Given the description of an element on the screen output the (x, y) to click on. 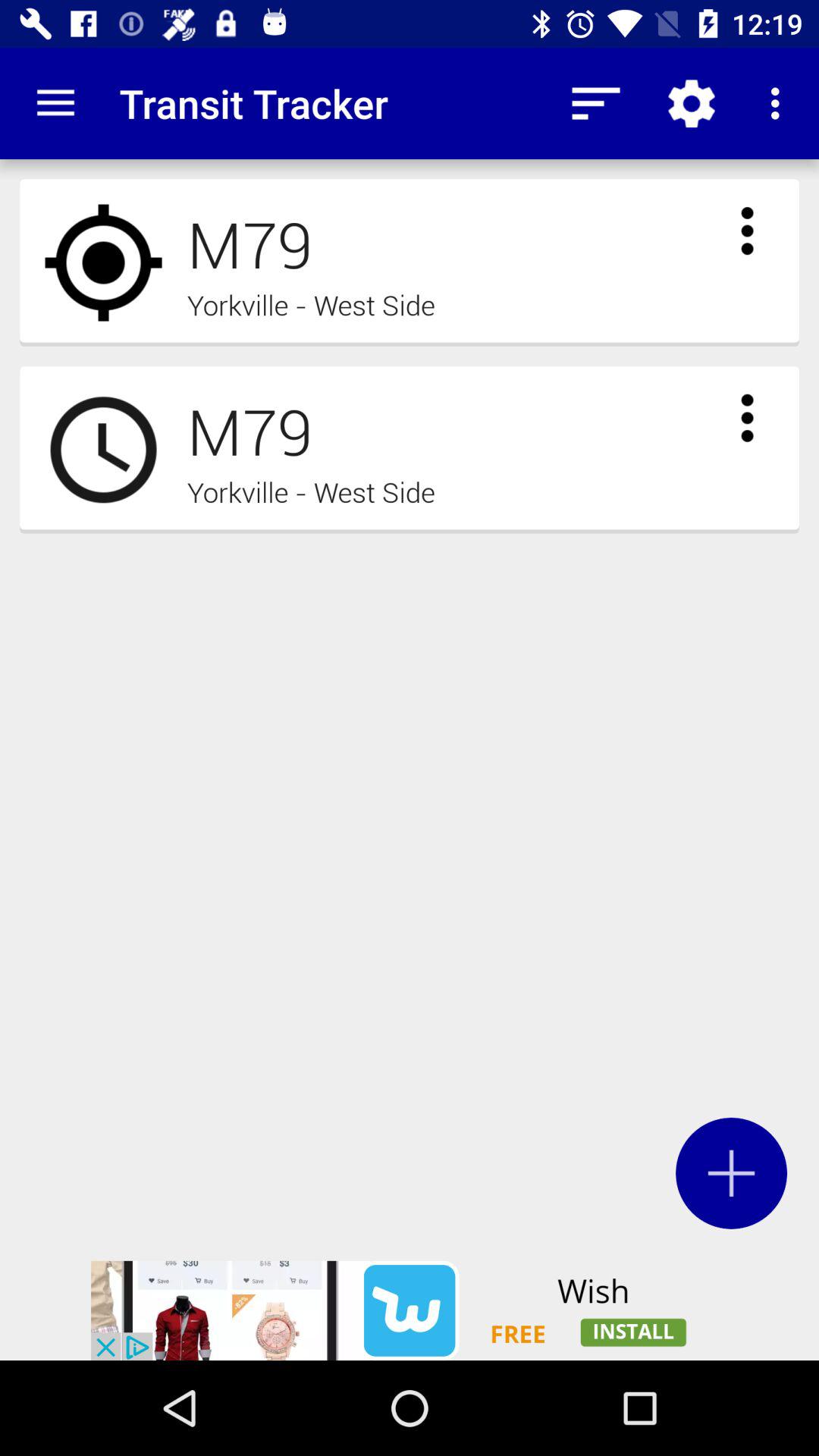
button optin (731, 1173)
